Given the description of an element on the screen output the (x, y) to click on. 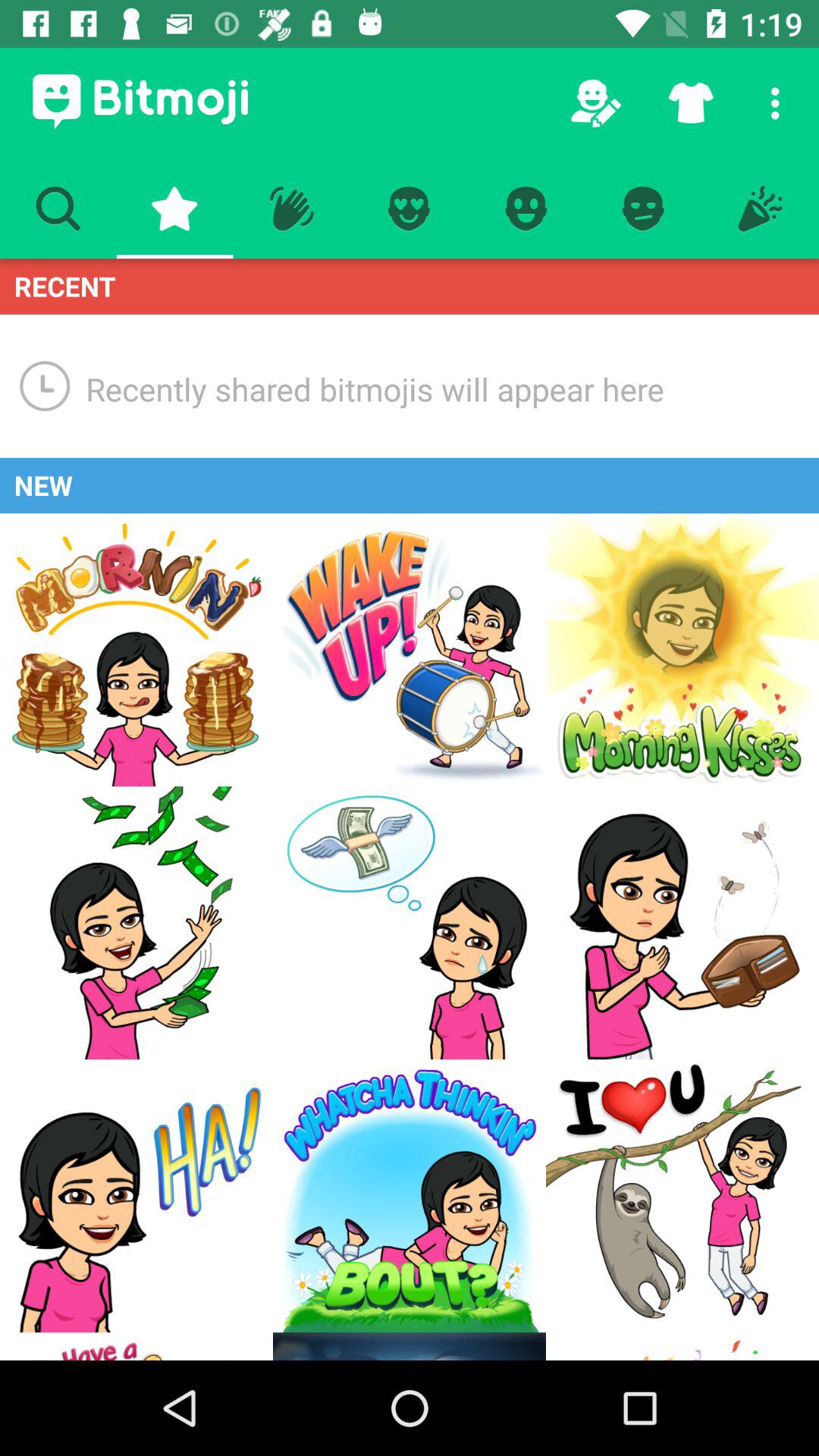
select this graphic (136, 649)
